Given the description of an element on the screen output the (x, y) to click on. 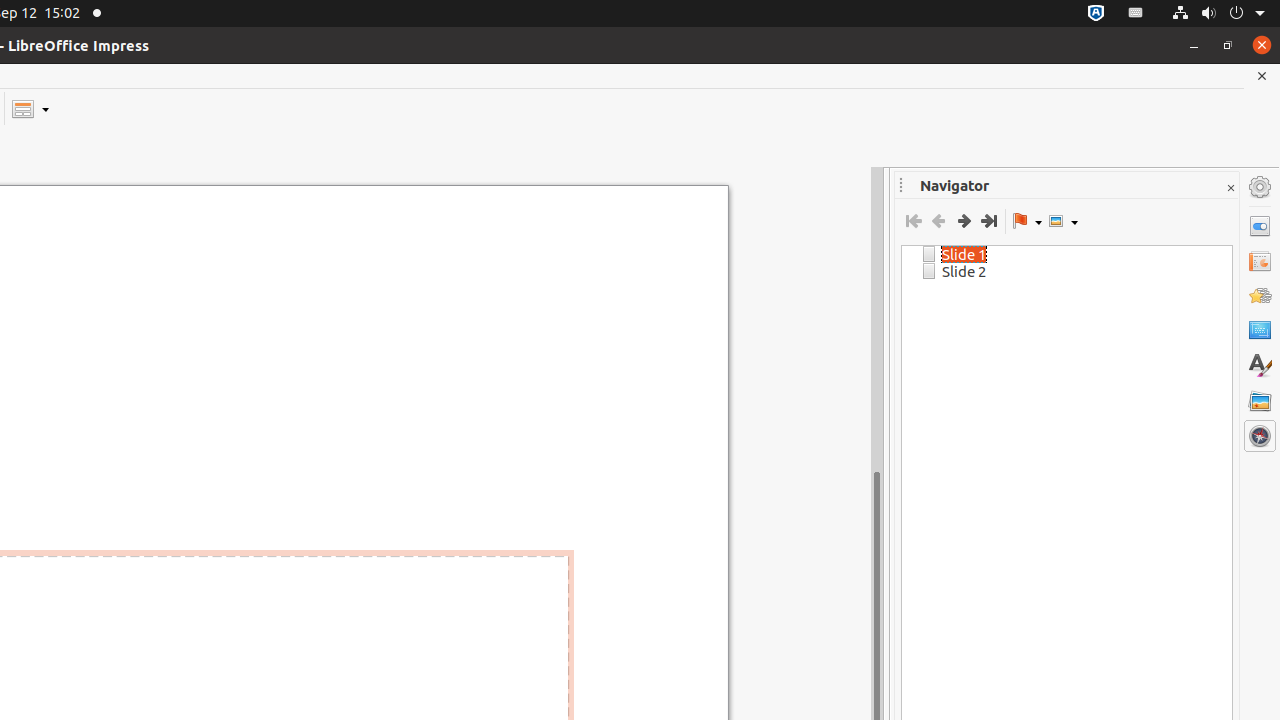
Close Sidebar Deck Element type: push-button (1230, 188)
Styles Element type: radio-button (1260, 366)
Properties Element type: radio-button (1260, 226)
Drag Mode Element type: push-button (1027, 221)
